Given the description of an element on the screen output the (x, y) to click on. 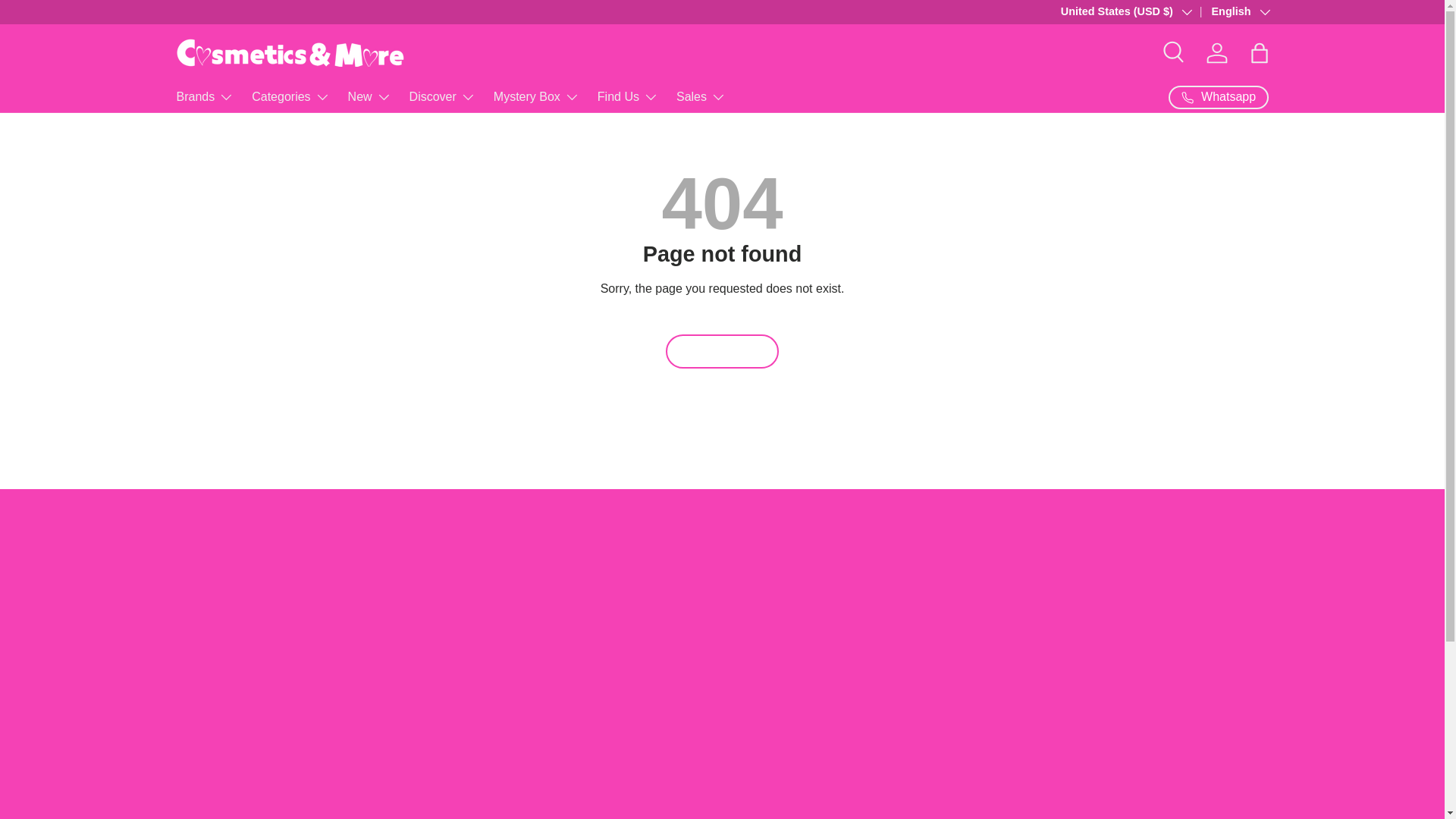
Search (1174, 52)
Skip to content (69, 21)
Log in (1216, 52)
Bag (1258, 52)
English (1229, 12)
Brands (204, 96)
